Given the description of an element on the screen output the (x, y) to click on. 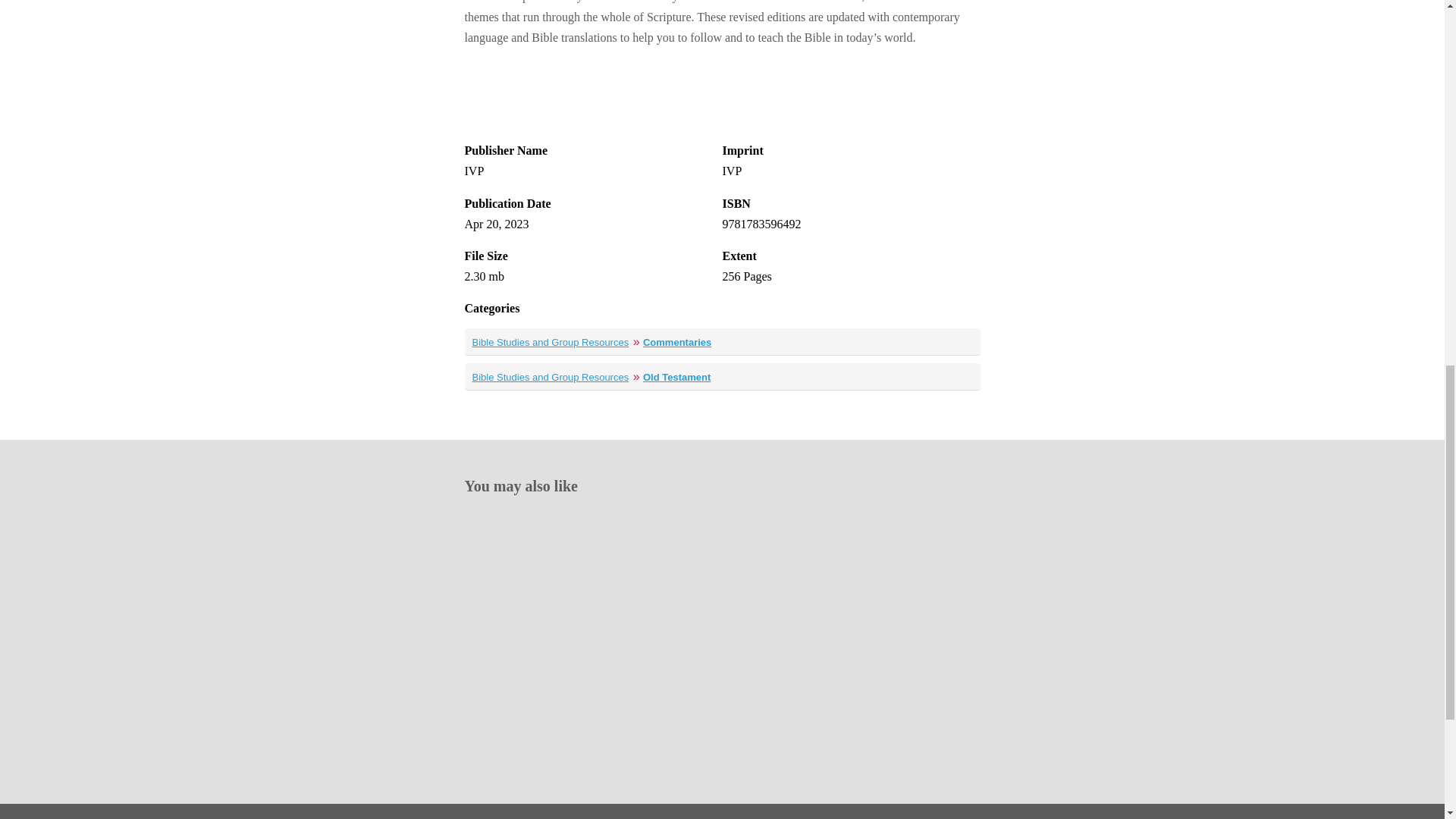
Bible Studies and Group Resources (549, 342)
Commentaries (677, 342)
Old Testament (676, 377)
Bible Studies and Group Resources (549, 377)
